Given the description of an element on the screen output the (x, y) to click on. 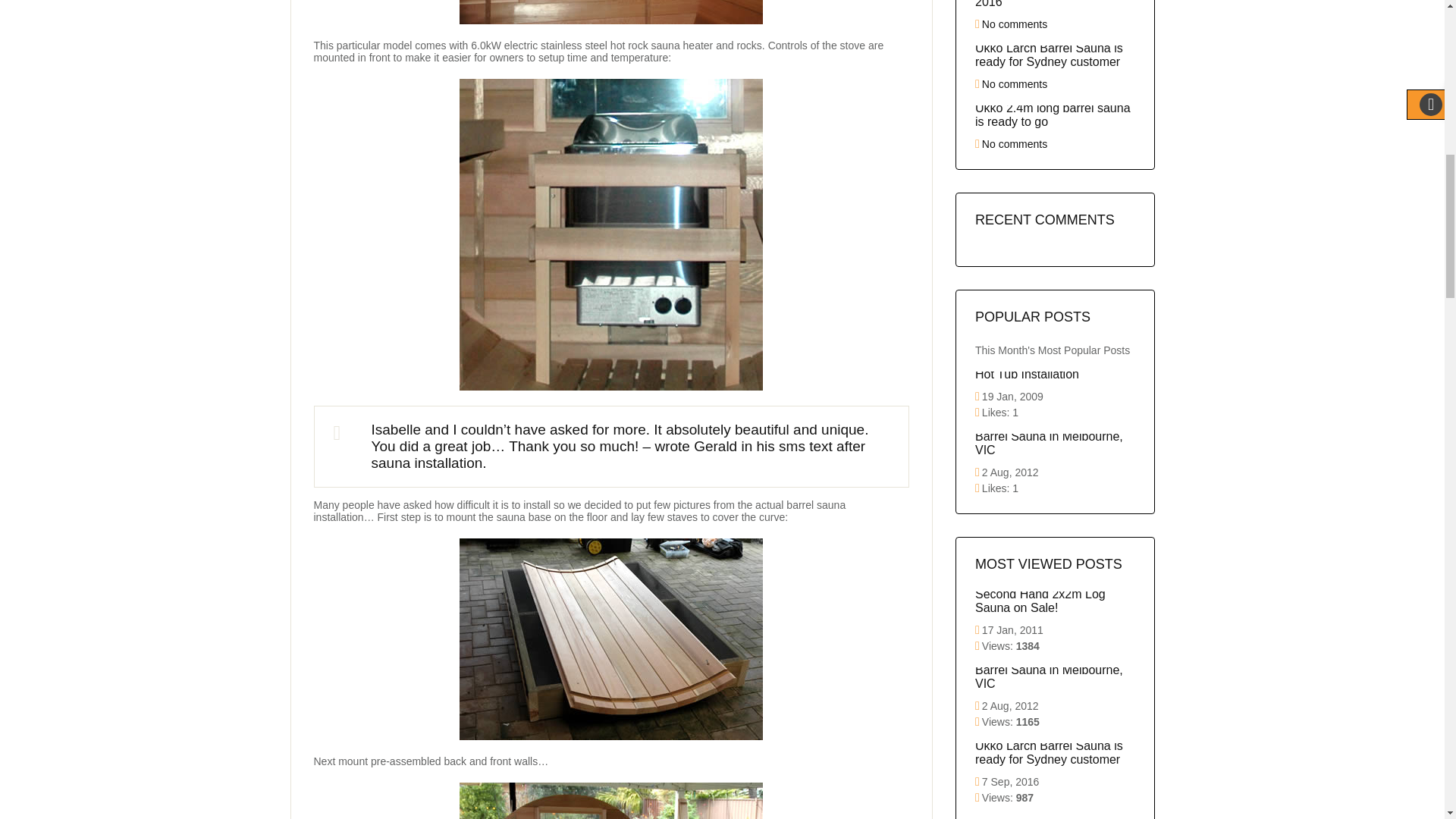
sauna-back-wall (611, 800)
Sauna electric heater (611, 234)
sauna-back-window (611, 12)
sauna-base-bottom-staves (611, 639)
